Given the description of an element on the screen output the (x, y) to click on. 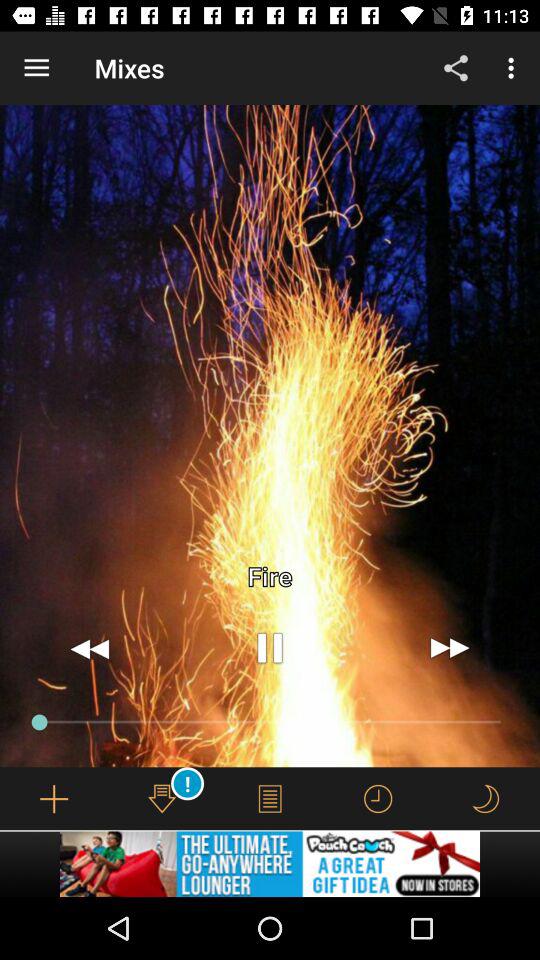
press item next to the mixes item (36, 68)
